Given the description of an element on the screen output the (x, y) to click on. 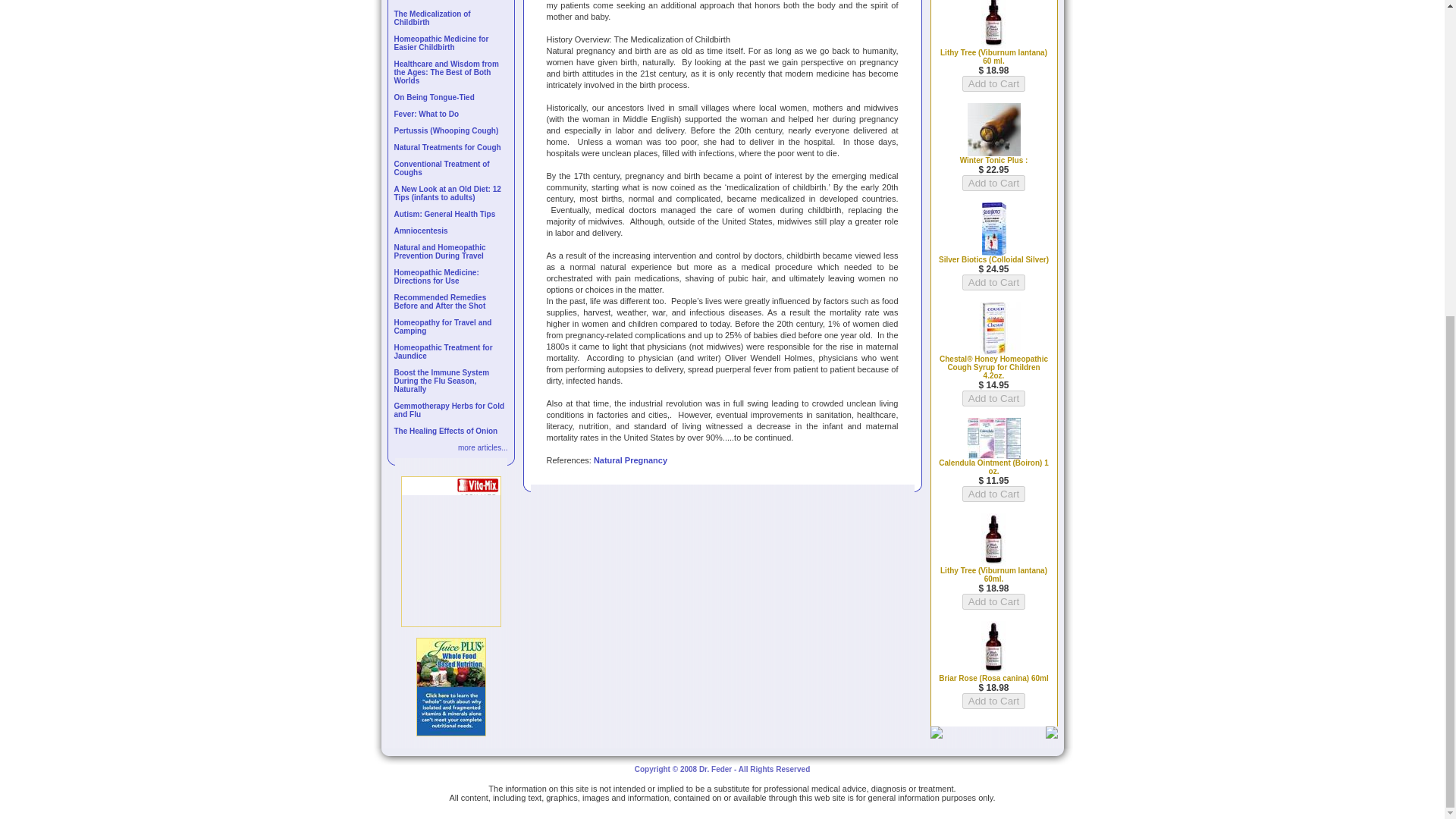
more articles... (483, 447)
Natural Treatments for Cough (447, 147)
Add to Cart (993, 494)
Amniocentesis (421, 230)
Homeopathic Medicine: Directions for Use (436, 276)
Healthcare and Wisdom from the Ages: The Best of Both Worlds (446, 72)
Add to Cart (993, 700)
Add to Cart (993, 601)
Conventional Treatment of Coughs (441, 167)
